Given the description of an element on the screen output the (x, y) to click on. 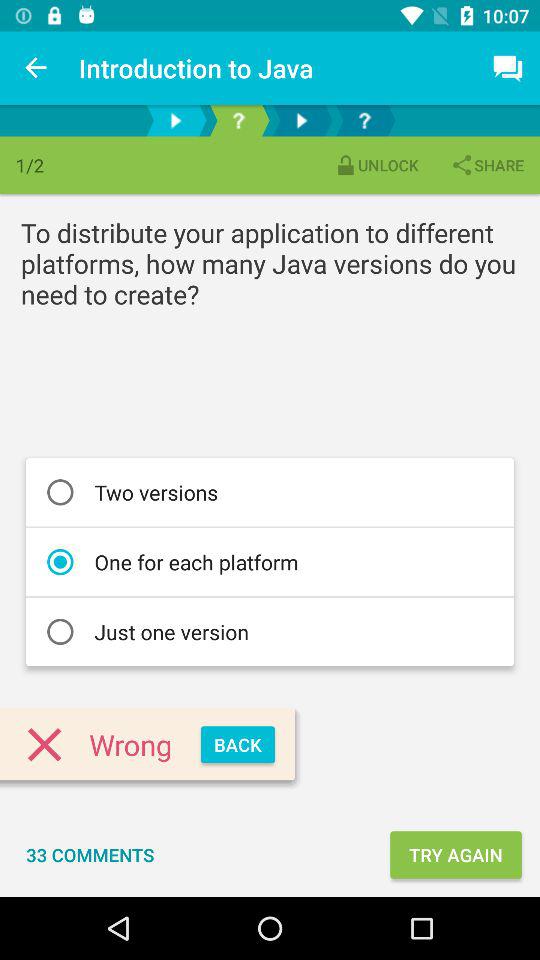
jump to the try again (455, 854)
